Given the description of an element on the screen output the (x, y) to click on. 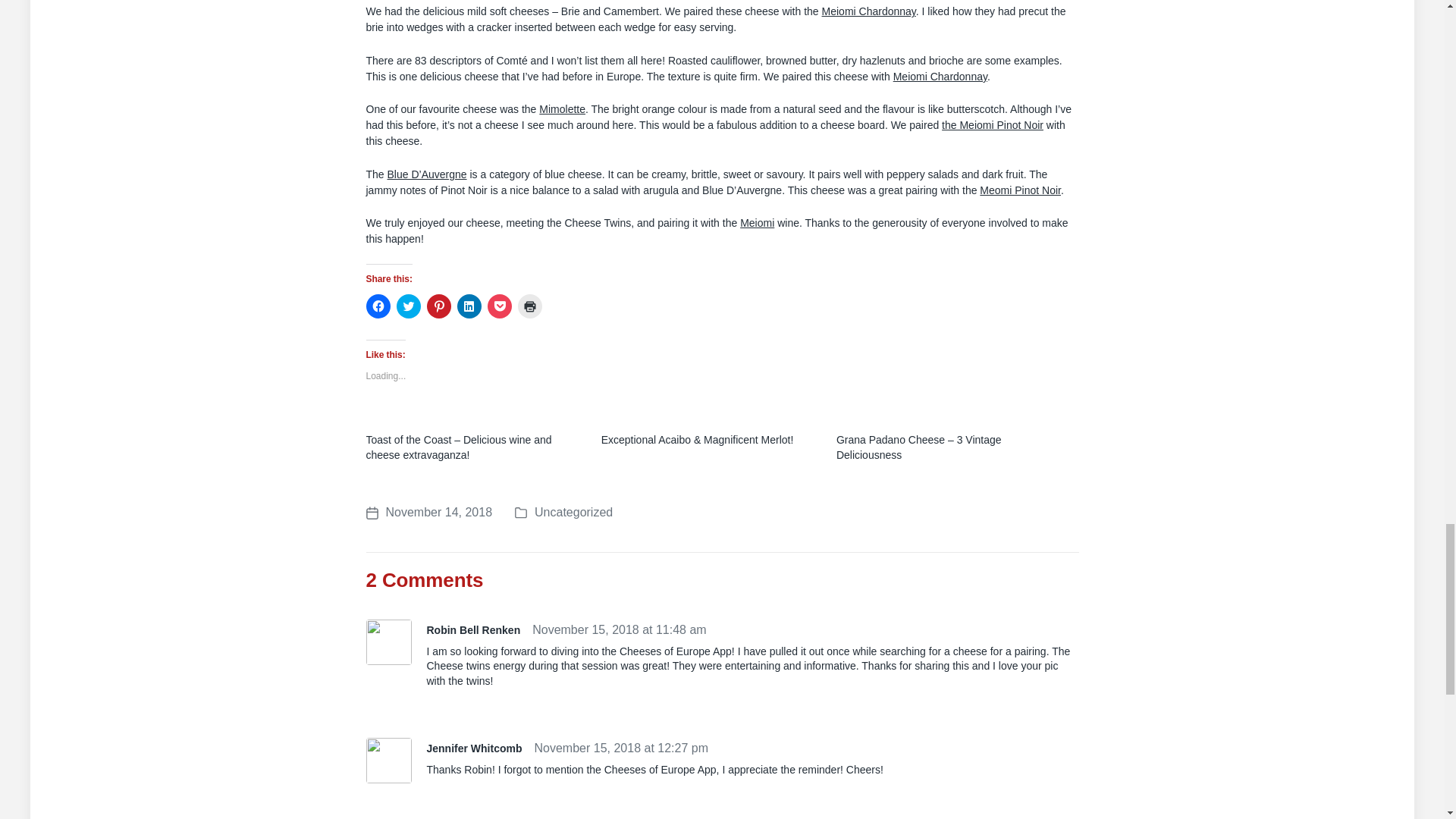
Click to share on LinkedIn (468, 306)
Meiomi (756, 223)
the Meiomi Pinot Noir (992, 124)
Meiomi Chardonnay (940, 76)
Click to share on Twitter (408, 306)
Click to share on Pocket (498, 306)
Click to share on Pinterest (437, 306)
Meomi Pinot Noir (1020, 190)
November 15, 2018 at 12:27 pm (620, 748)
Mimolette (561, 109)
November 14, 2018 (428, 512)
Meiomi Chardonnay (868, 10)
November 15, 2018 at 11:48 am (619, 630)
Click to share on Facebook (377, 306)
Robin Bell Renken (472, 630)
